Given the description of an element on the screen output the (x, y) to click on. 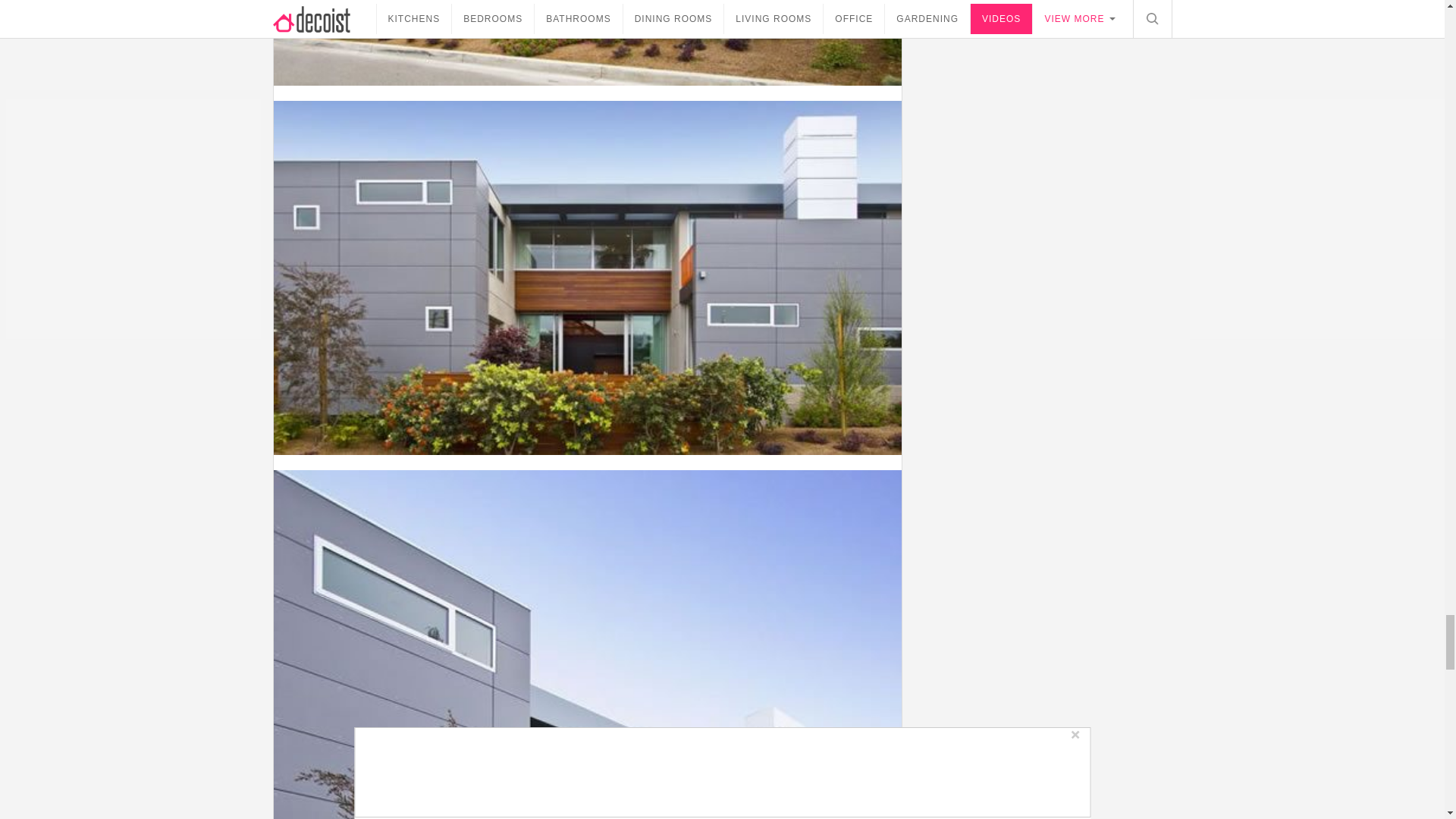
kuhlhaus-02-home (587, 42)
